Given the description of an element on the screen output the (x, y) to click on. 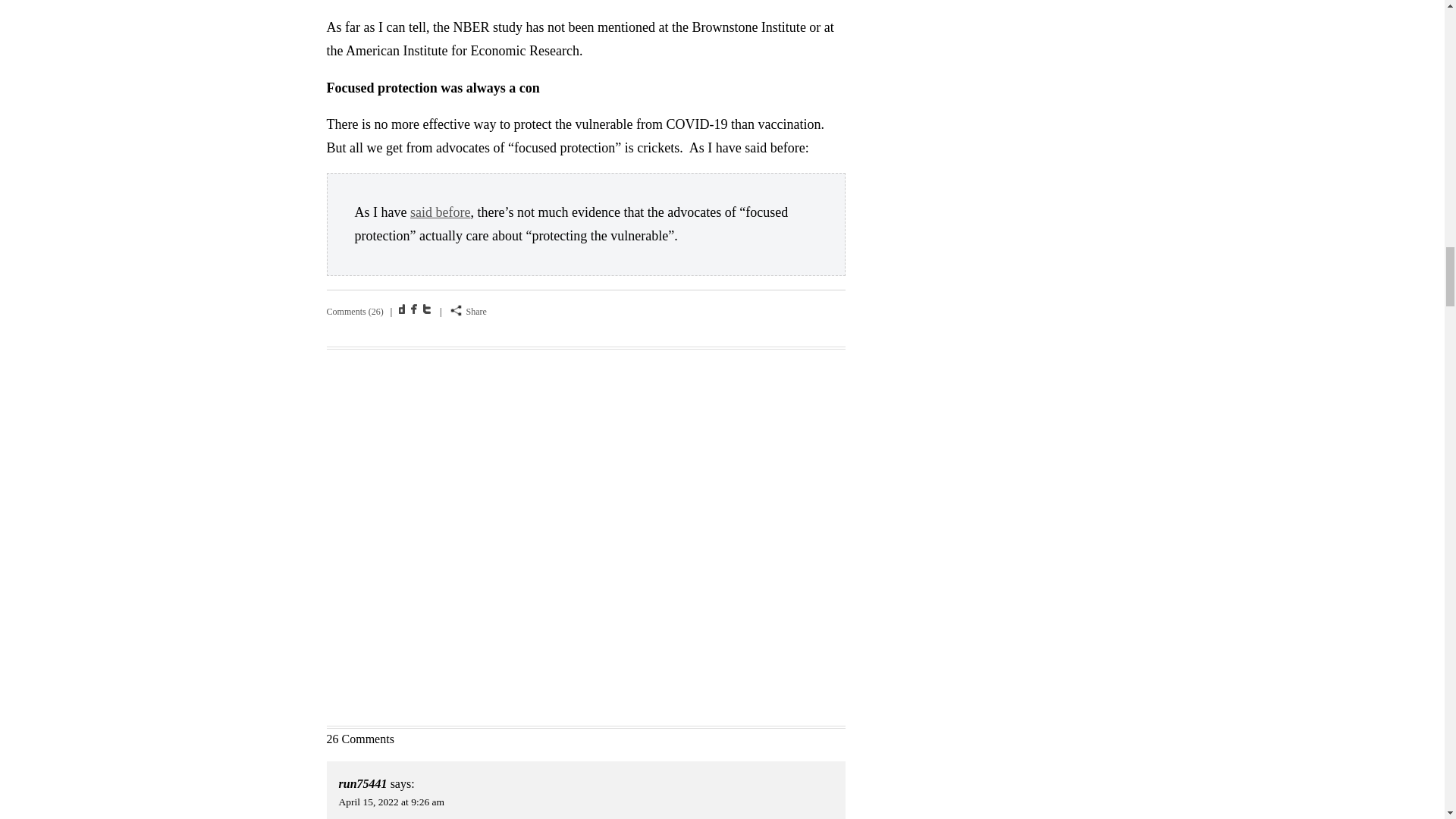
Digg (403, 308)
said before (440, 212)
